Given the description of an element on the screen output the (x, y) to click on. 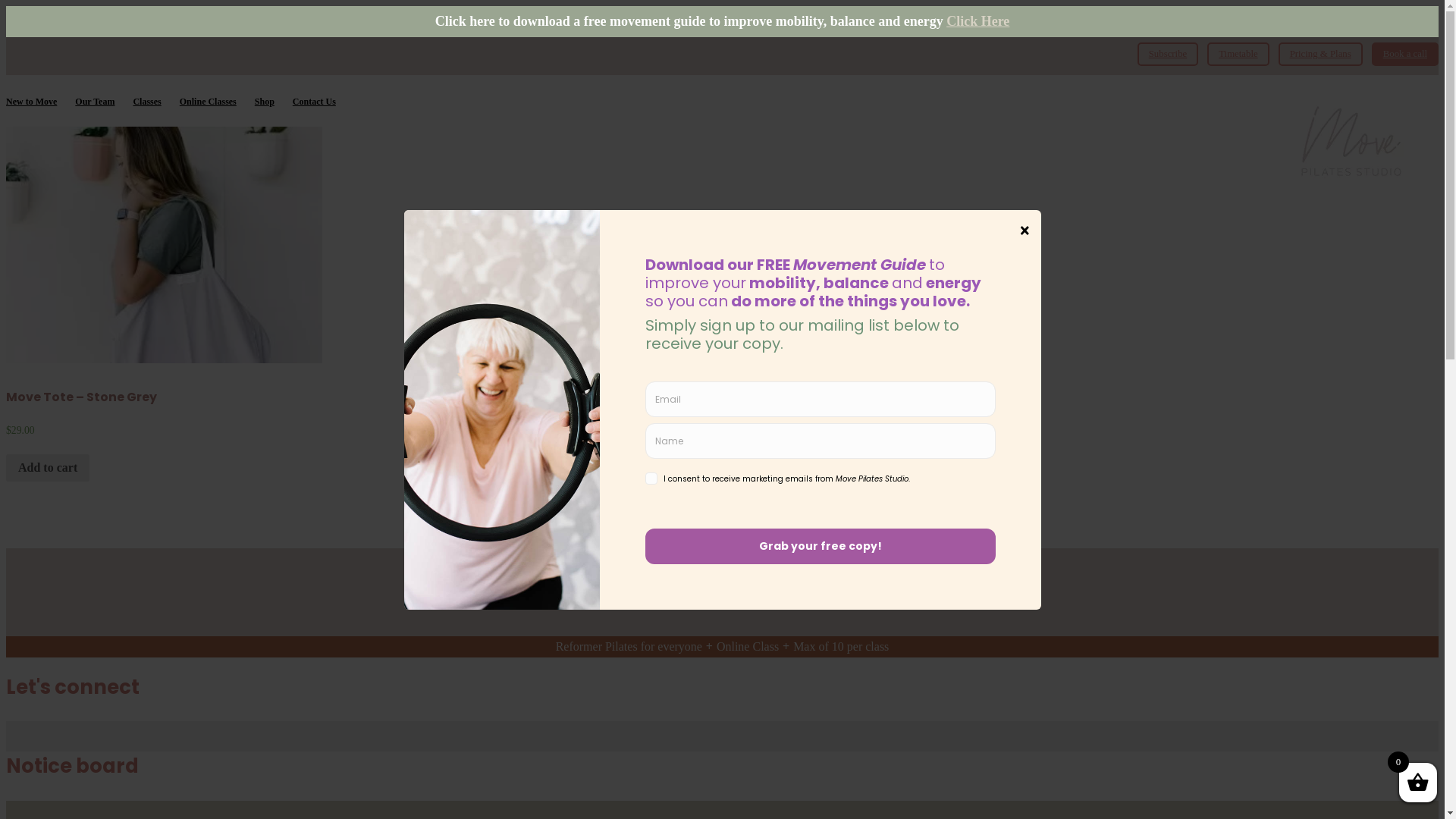
Click Here Element type: text (977, 20)
Pricing & Plans Element type: text (1320, 53)
New to Move Element type: text (31, 101)
Classes Element type: text (146, 101)
Shop Element type: text (264, 101)
Add to cart Element type: text (47, 467)
Our Team Element type: text (94, 101)
Book a call Element type: text (1404, 53)
Contact Us Element type: text (313, 101)
Timetable Element type: text (1237, 53)
Subscribe Element type: text (1167, 53)
Online Classes Element type: text (207, 101)
